Given the description of an element on the screen output the (x, y) to click on. 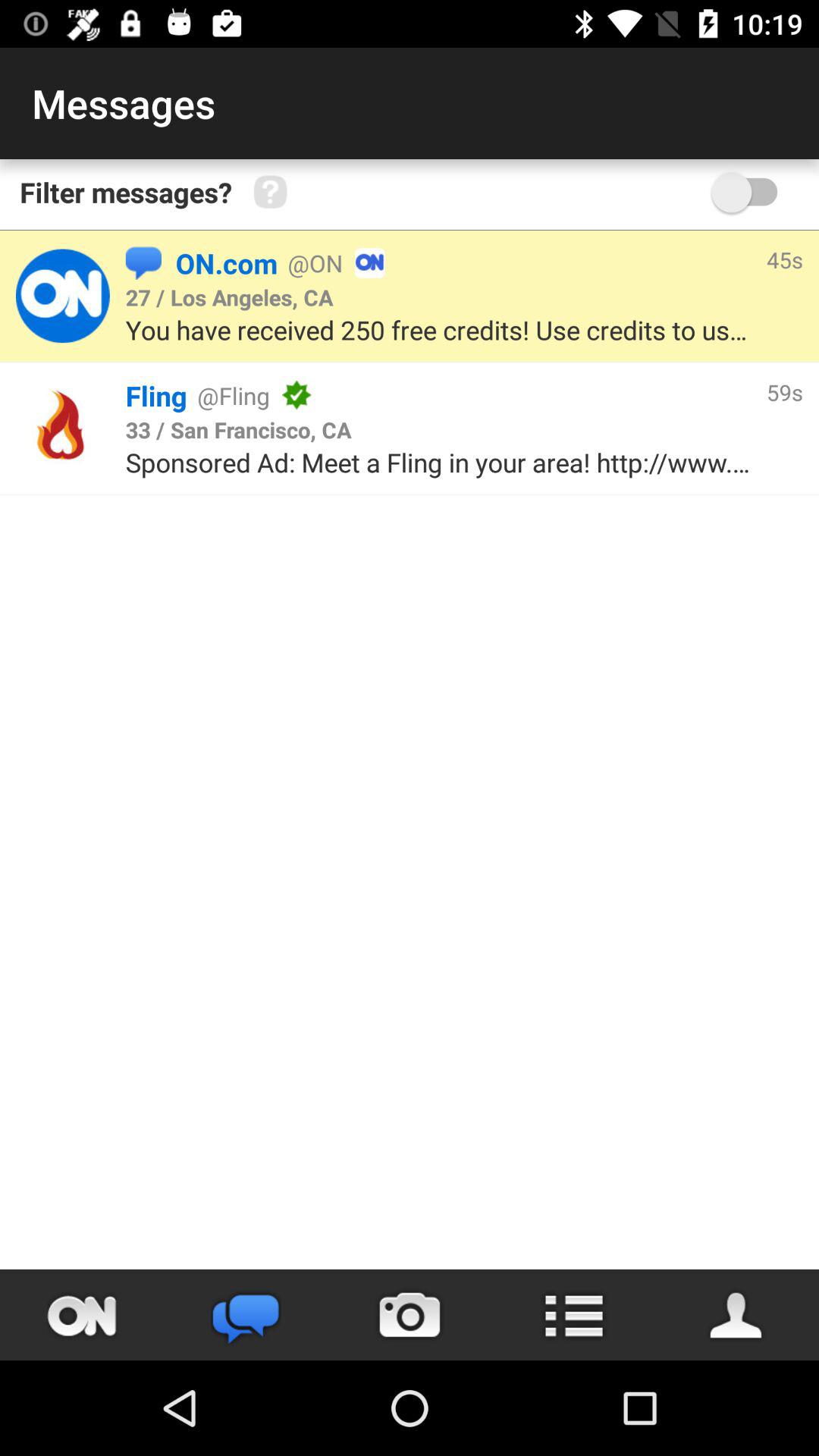
logo of fling app (62, 428)
